Given the description of an element on the screen output the (x, y) to click on. 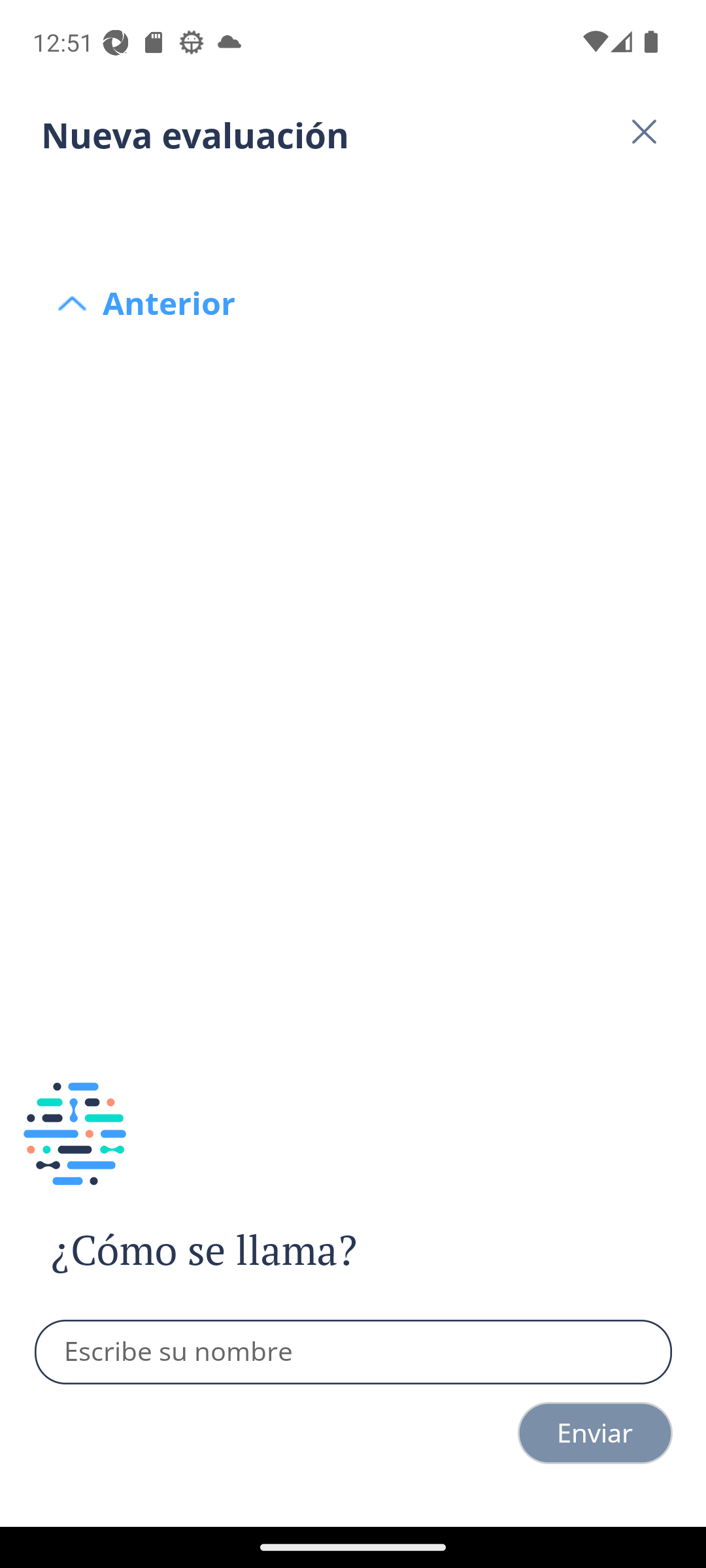
undo Anterior (353, 203)
¿Cómo se llama? (240, 1250)
Escribe su nombre (353, 1352)
Enviar (594, 1432)
